Given the description of an element on the screen output the (x, y) to click on. 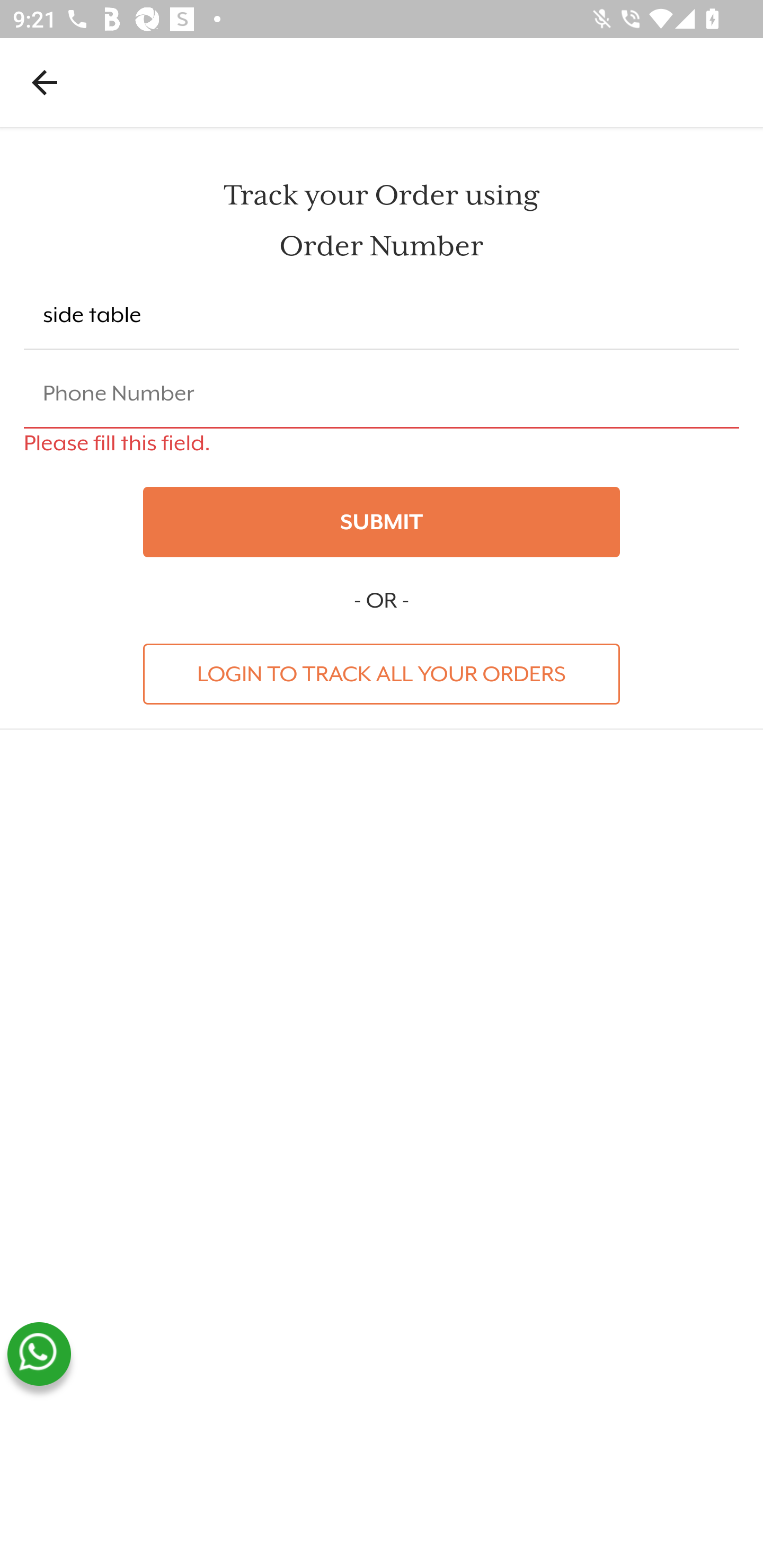
Navigate up (44, 82)
side table (381, 315)
SUBMIT (381, 522)
LOGIN TO TRACK ALL YOUR ORDERS (381, 673)
whatsapp (38, 1353)
